Given the description of an element on the screen output the (x, y) to click on. 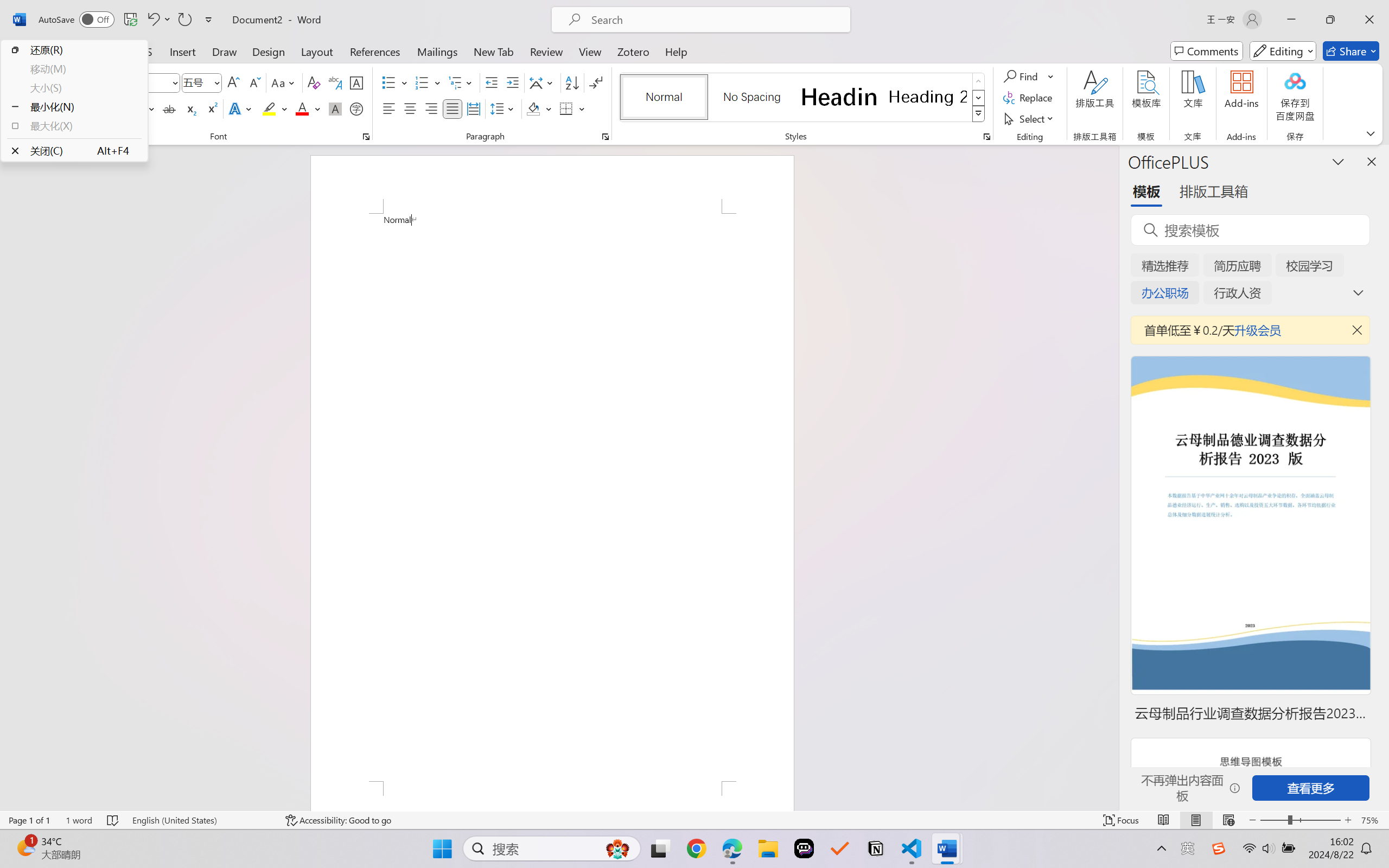
Distributed (473, 108)
Find (1022, 75)
Heading 1 (839, 96)
Italic (115, 108)
Mailings (437, 51)
Zoom In (1348, 819)
Underline (142, 108)
Asian Layout (542, 82)
Zoom Out (1273, 819)
